Given the description of an element on the screen output the (x, y) to click on. 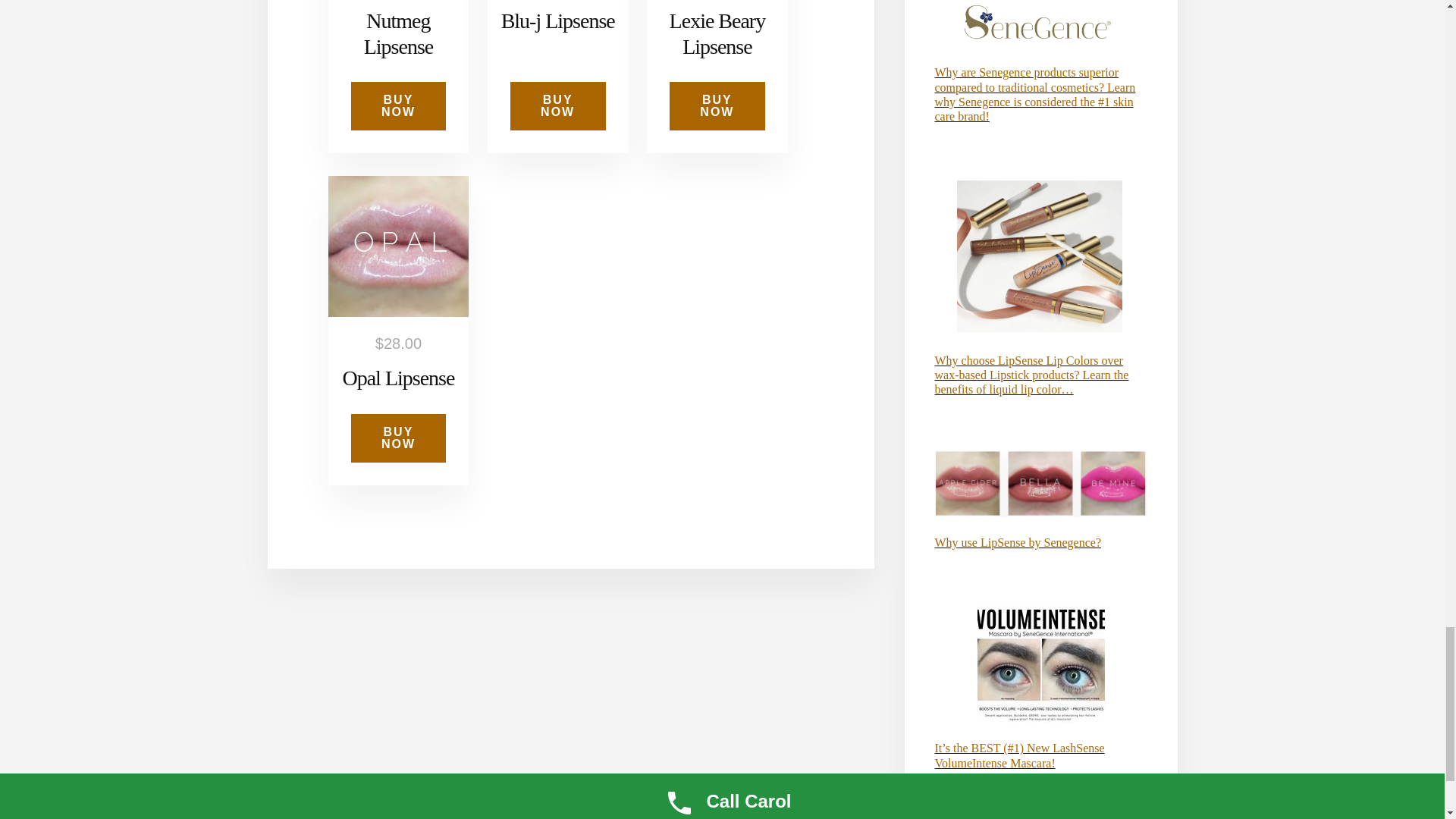
BUY NOW (558, 105)
BUY NOW (717, 105)
BUY NOW (397, 438)
BUY NOW (397, 105)
